Given the description of an element on the screen output the (x, y) to click on. 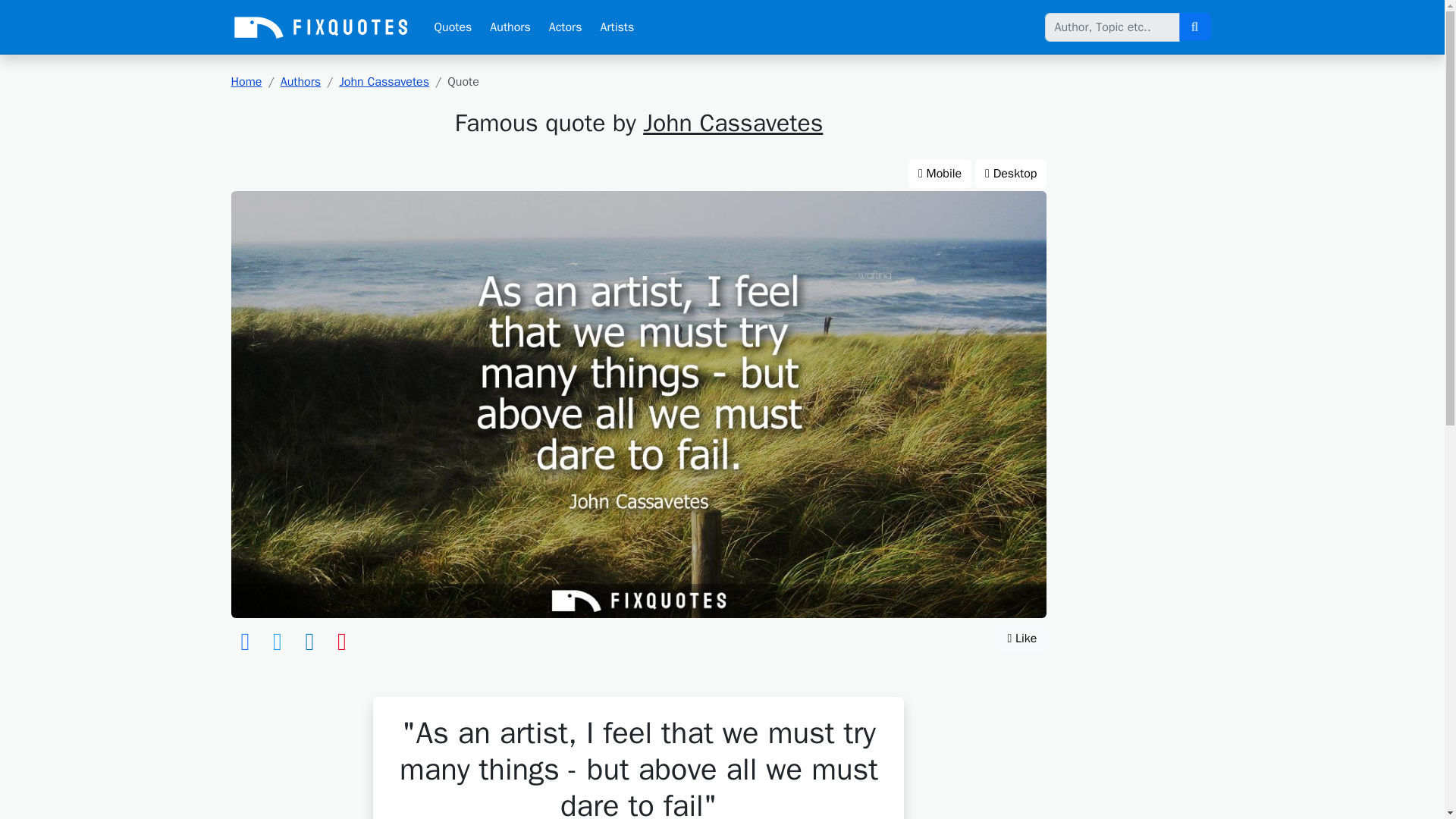
Actors (565, 27)
Authors (509, 27)
Home (246, 81)
Click to search (1193, 26)
Mobile (939, 173)
John Cassavetes (732, 122)
Quotes (452, 27)
Advertisement (1138, 299)
John Cassavetes (384, 81)
Artists (617, 27)
View Mobile version (939, 173)
Desktop (1010, 173)
View Desktop version (1010, 173)
Authors (300, 81)
